Given the description of an element on the screen output the (x, y) to click on. 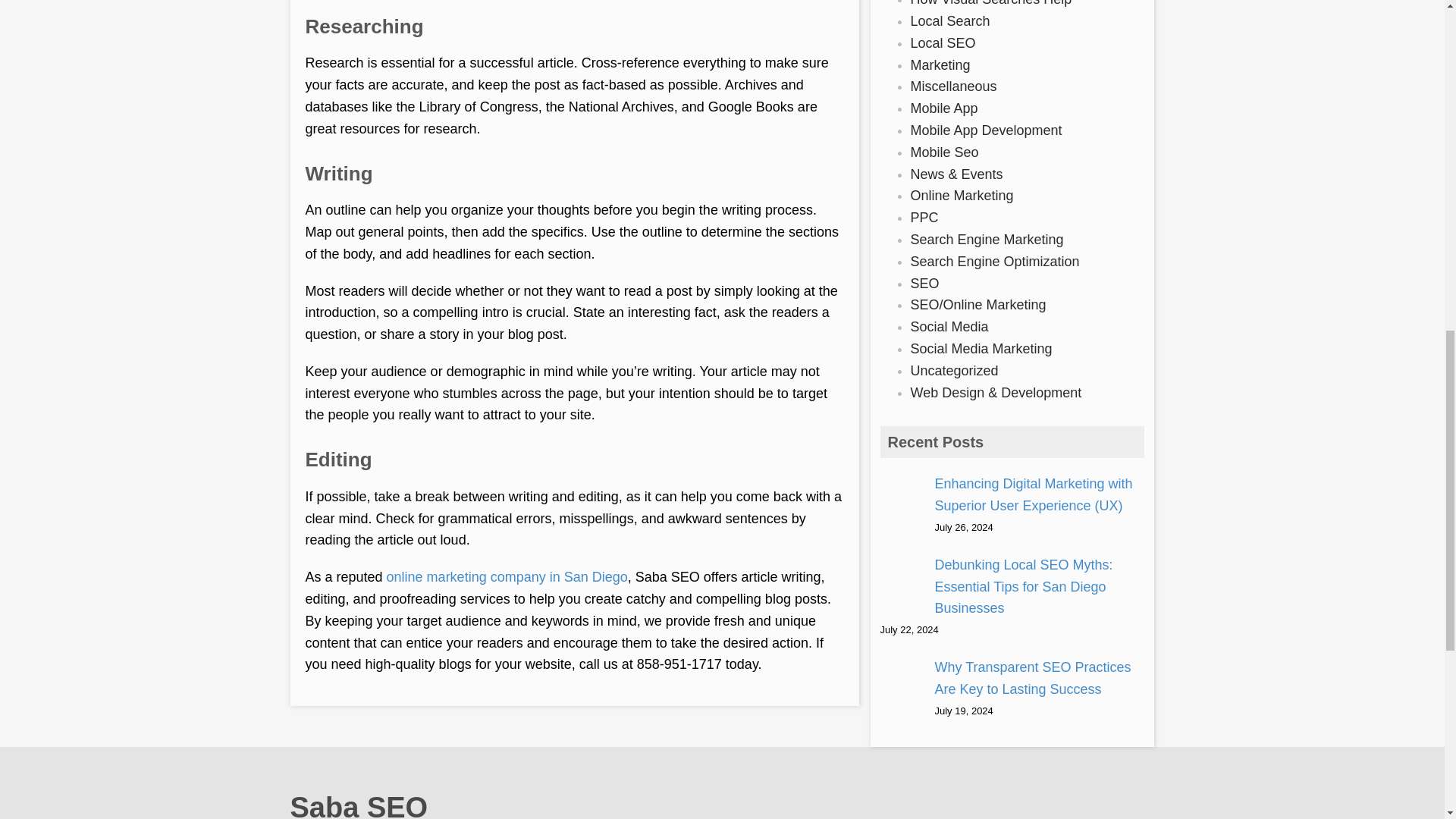
online marketing company in San Diego (507, 576)
